Given the description of an element on the screen output the (x, y) to click on. 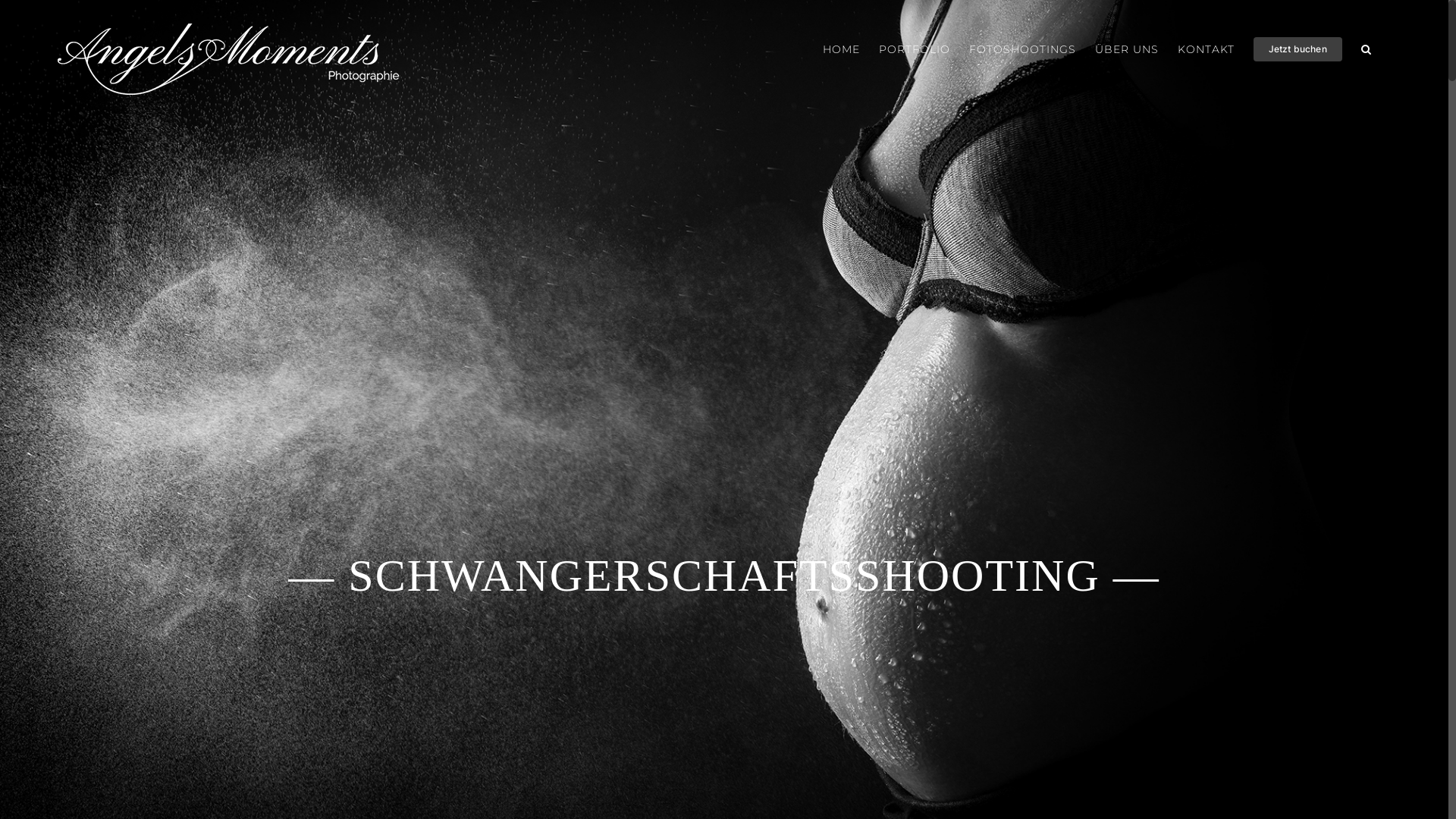
HOME Element type: text (840, 49)
KONTAKT Element type: text (1205, 49)
Jetzt buchen Element type: text (1297, 49)
Suche Element type: hover (1366, 49)
PORTFOLIO Element type: text (914, 49)
FOTOSHOOTINGS Element type: text (1022, 49)
